Given the description of an element on the screen output the (x, y) to click on. 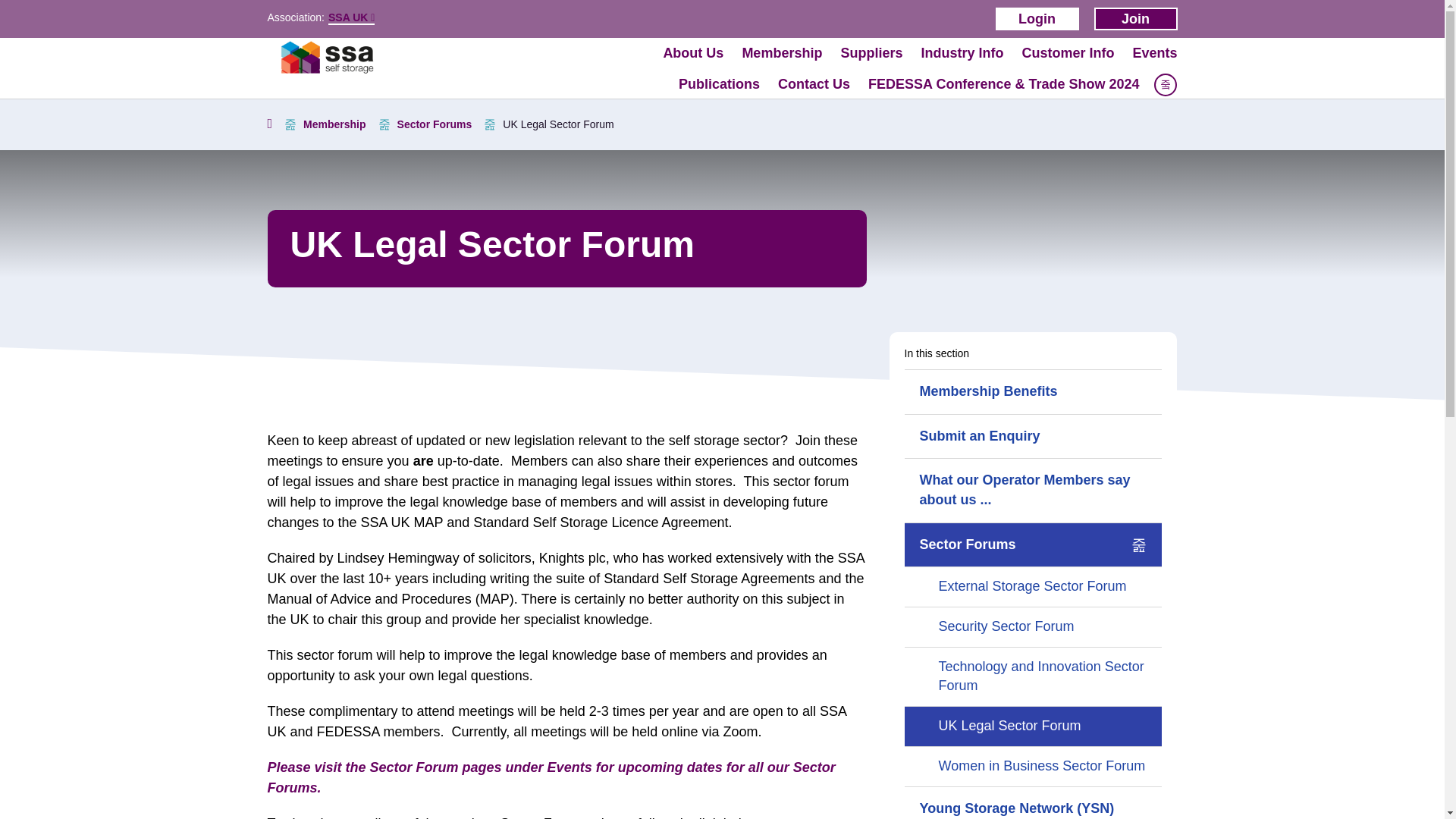
Suppliers (871, 53)
Membership (781, 53)
Skip to content (312, 116)
Login (1036, 18)
About Us (692, 53)
Join (1134, 18)
SSA UK (351, 18)
